Given the description of an element on the screen output the (x, y) to click on. 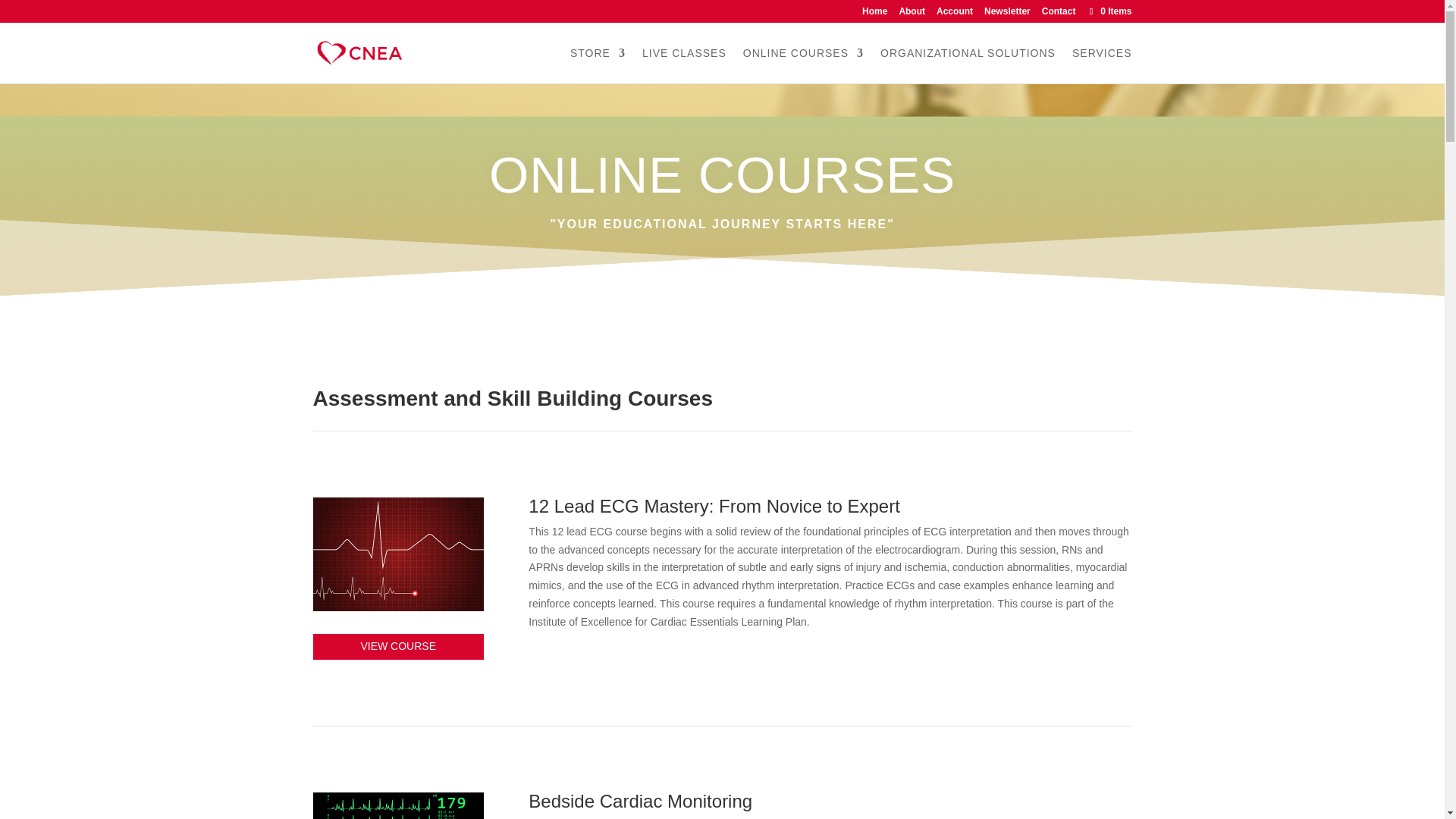
ORGANIZATIONAL SOLUTIONS (967, 65)
STORE (598, 65)
Newsletter (1007, 14)
0 Items (1108, 10)
LIVE CLASSES (684, 65)
Contact (1058, 14)
Account (954, 14)
ONLINE COURSES (802, 65)
SERVICES (1101, 65)
Home (873, 14)
About (911, 14)
